Given the description of an element on the screen output the (x, y) to click on. 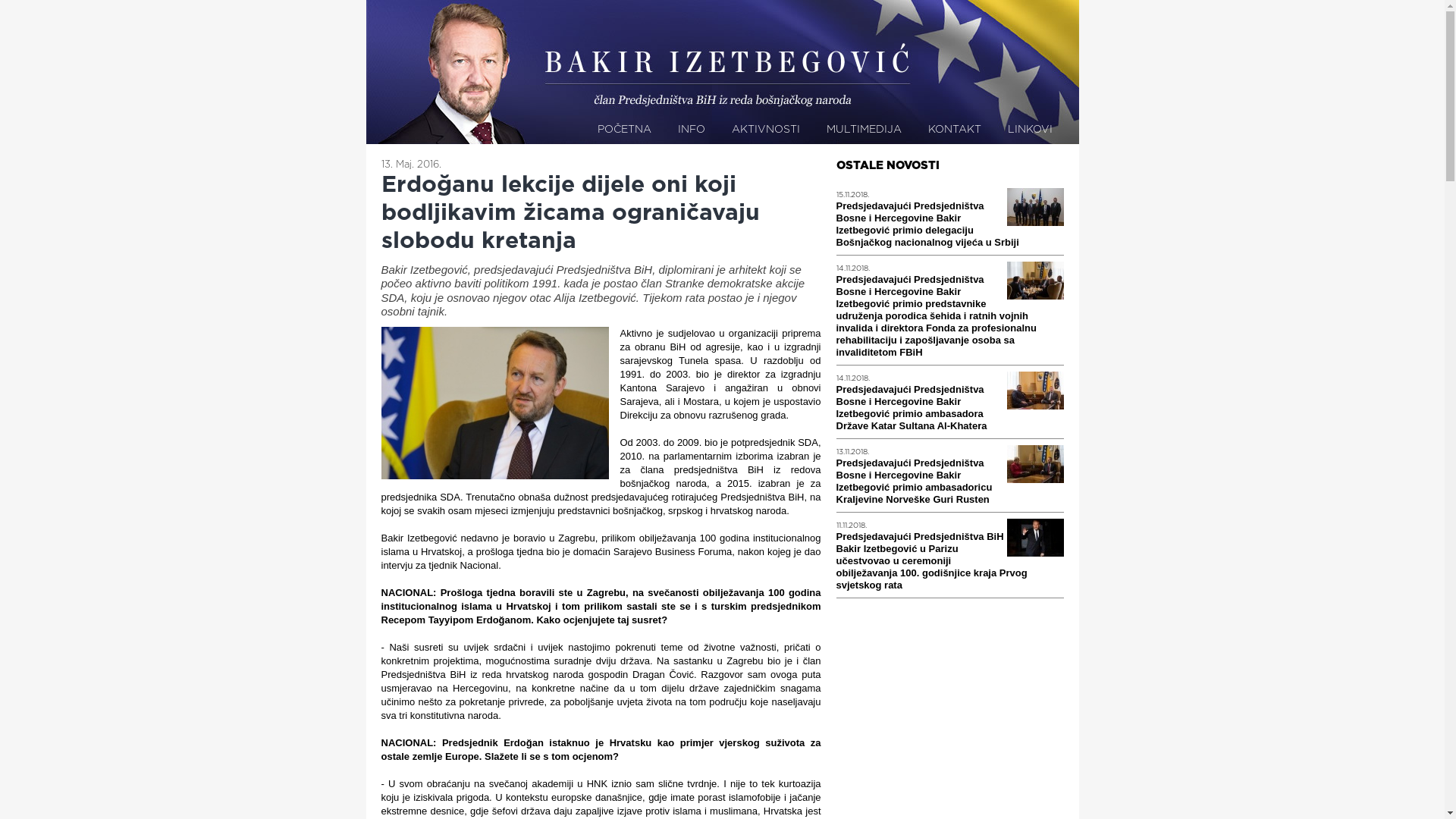
KONTAKT Element type: text (954, 129)
MULTIMEDIJA Element type: text (863, 129)
INFO Element type: text (691, 129)
AKTIVNOSTI Element type: text (765, 129)
LINKOVI Element type: text (1029, 129)
